Given the description of an element on the screen output the (x, y) to click on. 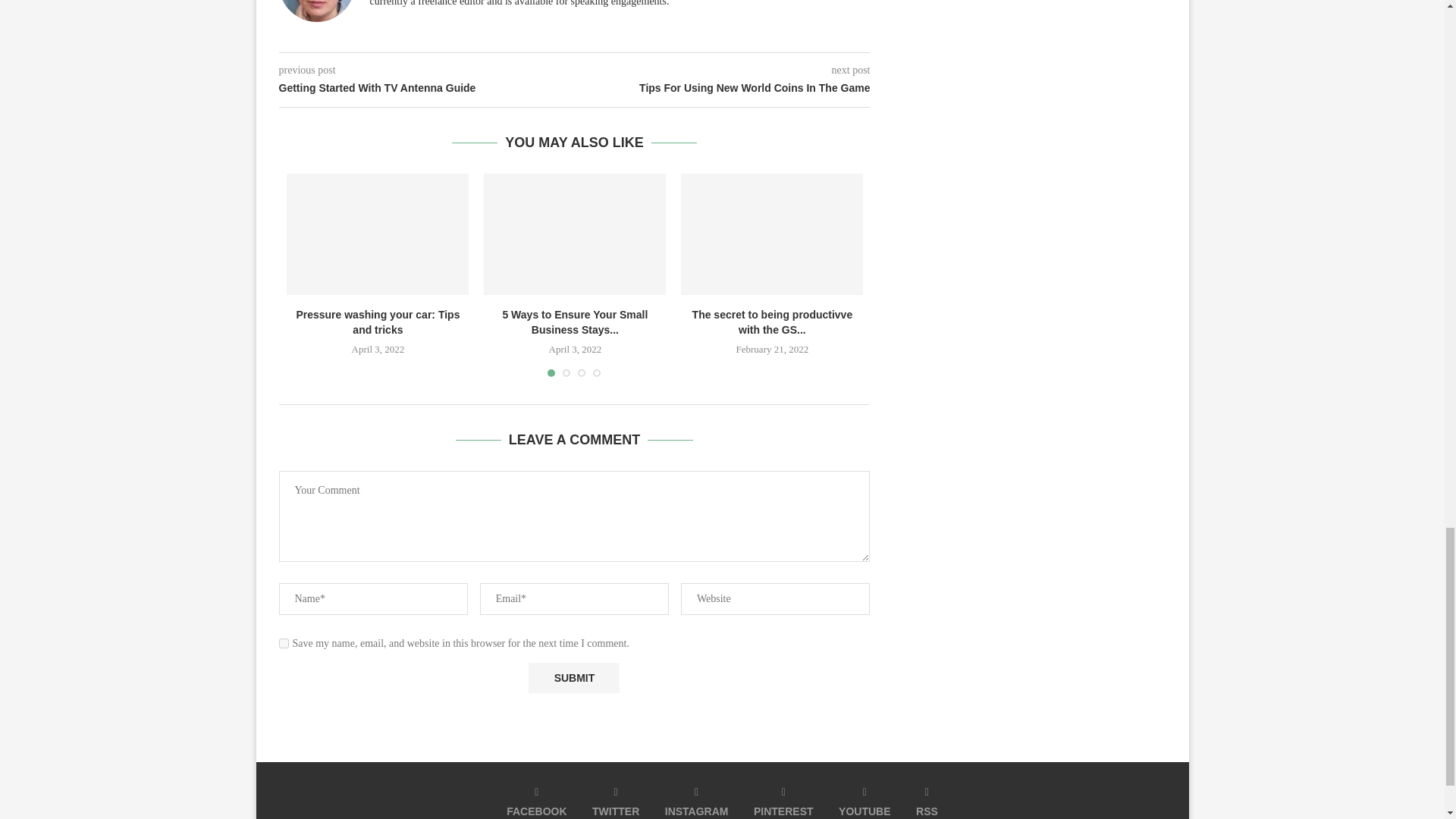
Submit (574, 677)
Tips For Using New World Coins In The Game (722, 88)
The secret to being productivve with the GS PRO hONOR WATCH (772, 233)
Getting Started With TV Antenna Guide (427, 88)
Pressure washing your car: Tips and tricks (377, 321)
Pressure washing your car: Tips and tricks (377, 233)
yes (283, 643)
